Given the description of an element on the screen output the (x, y) to click on. 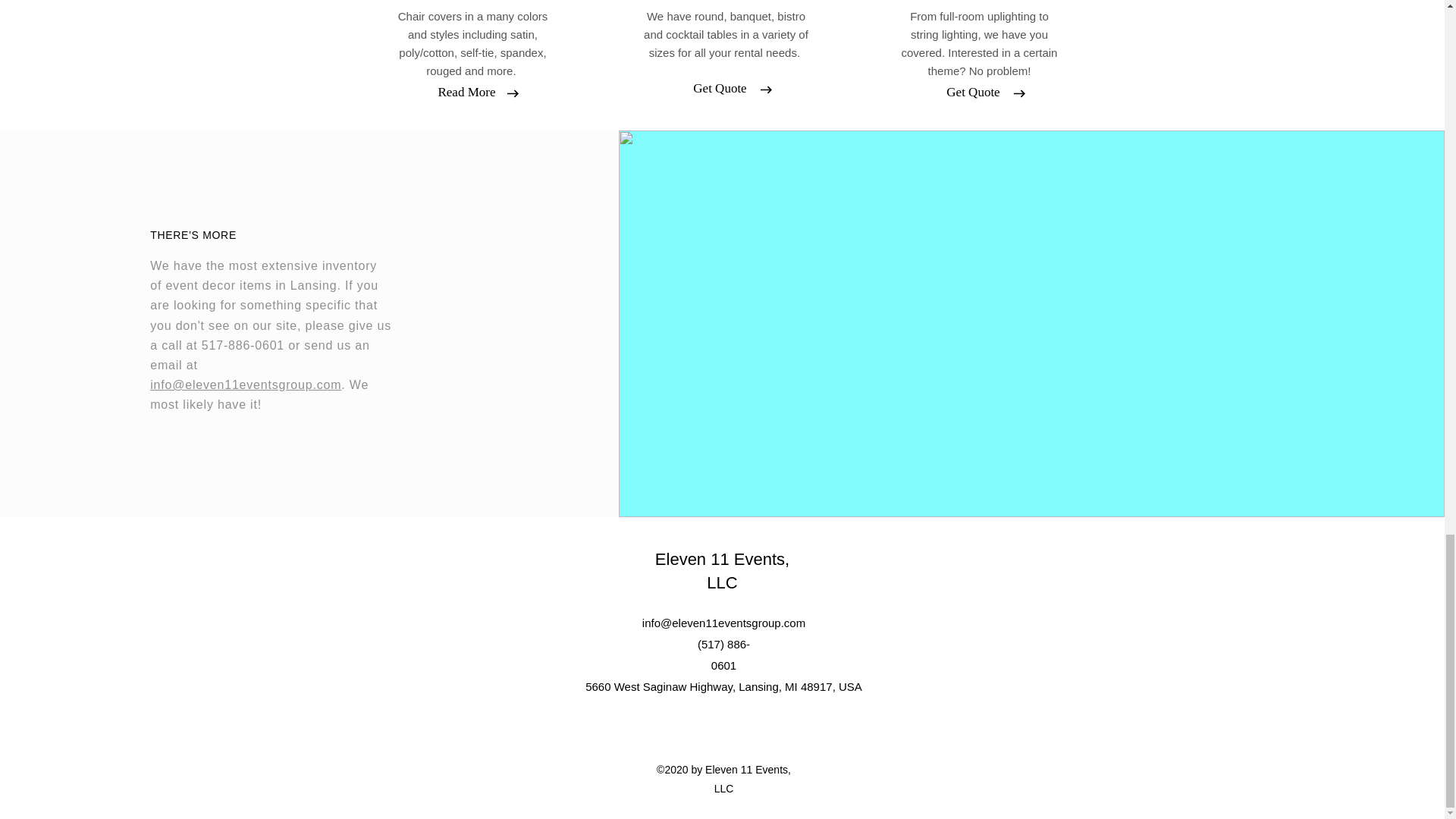
Get Quote (973, 92)
Get Quote (719, 88)
Read More (466, 92)
Eleven 11 Events, LLC (722, 570)
